Given the description of an element on the screen output the (x, y) to click on. 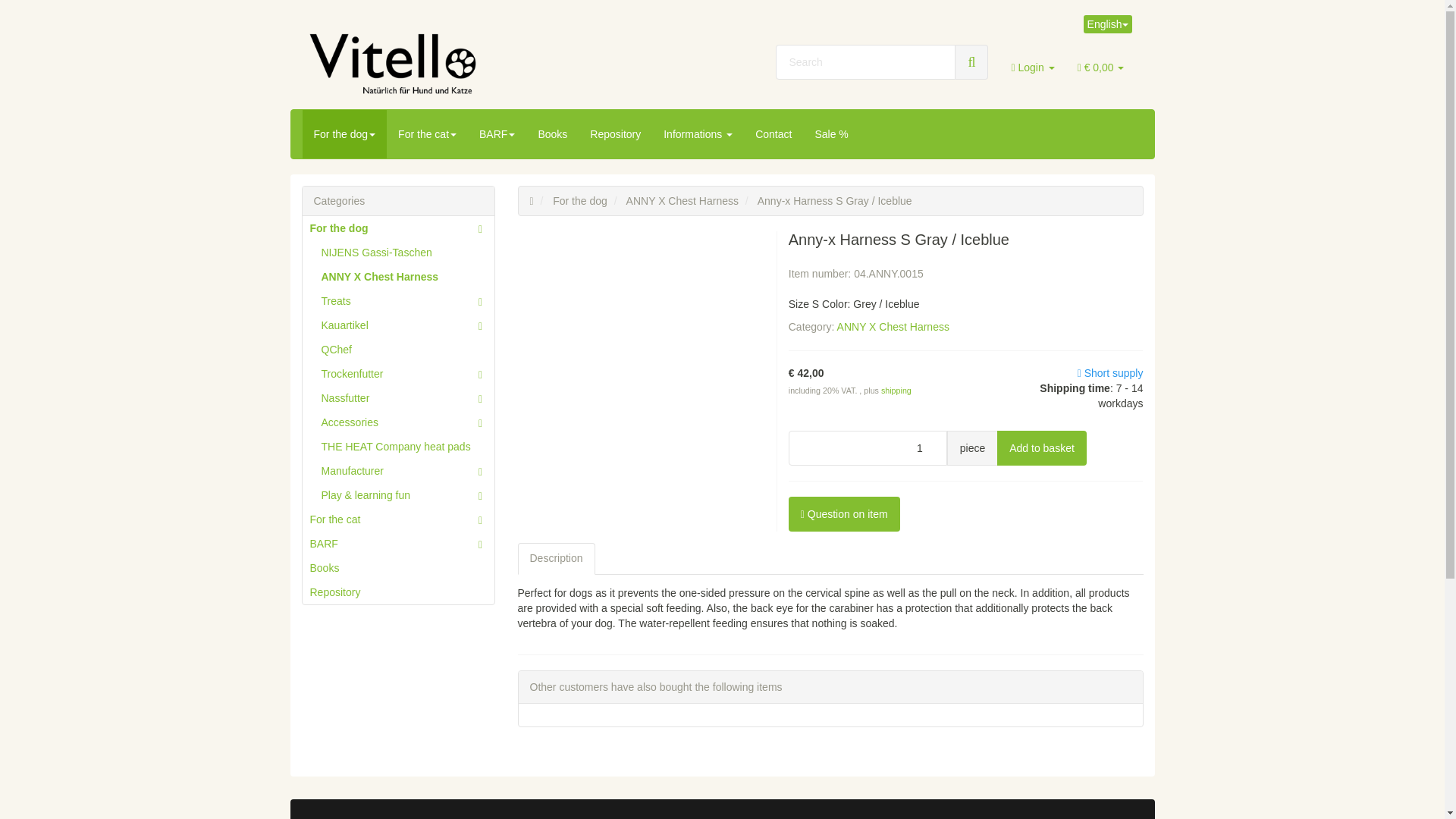
English (1107, 24)
Basket (1100, 67)
Please choose a language (1107, 24)
Login (1031, 67)
Login (1031, 67)
For the cat (427, 133)
1 (868, 448)
For the dog (344, 133)
